Given the description of an element on the screen output the (x, y) to click on. 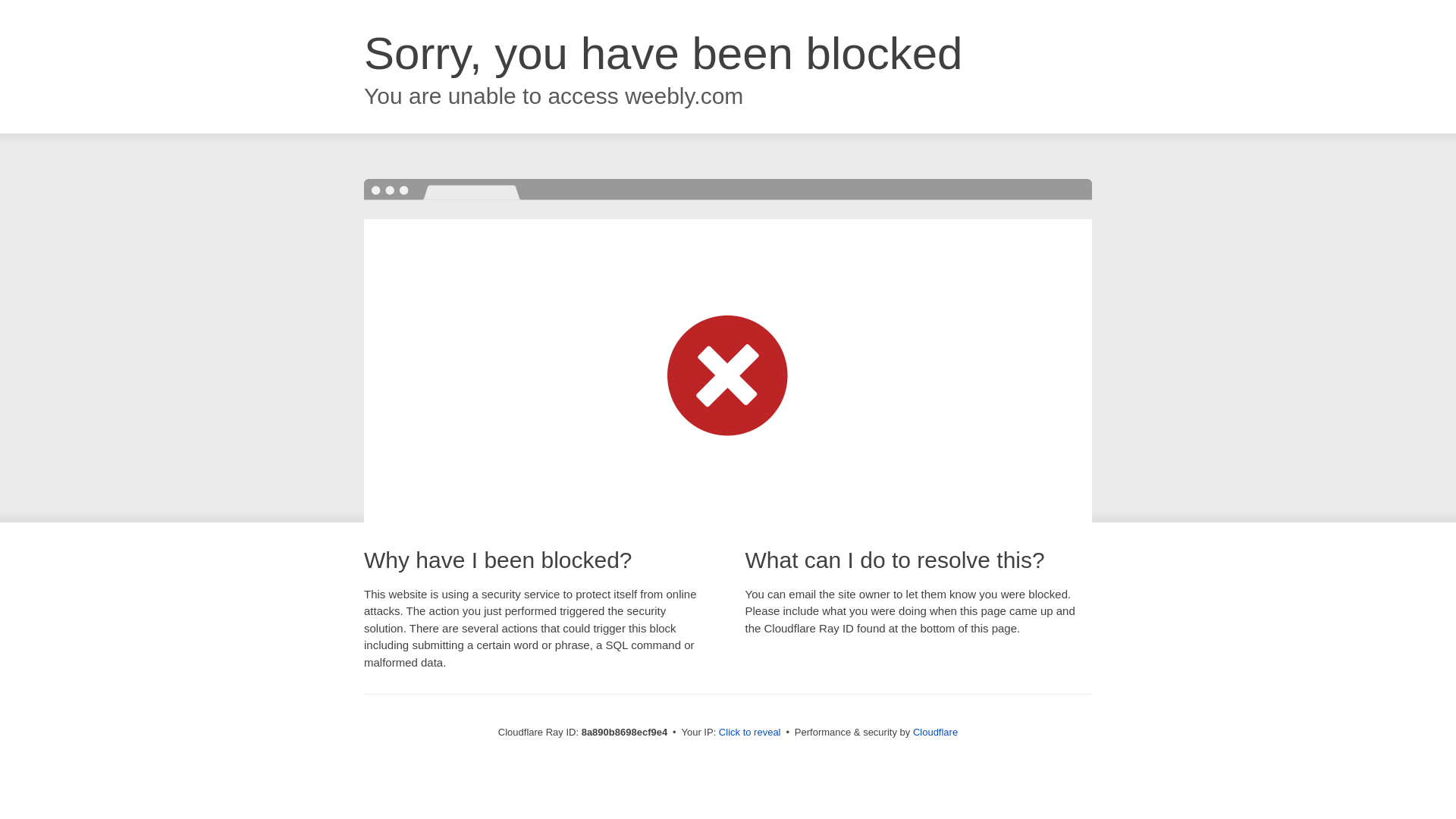
Click to reveal (749, 732)
Cloudflare (935, 731)
